Given the description of an element on the screen output the (x, y) to click on. 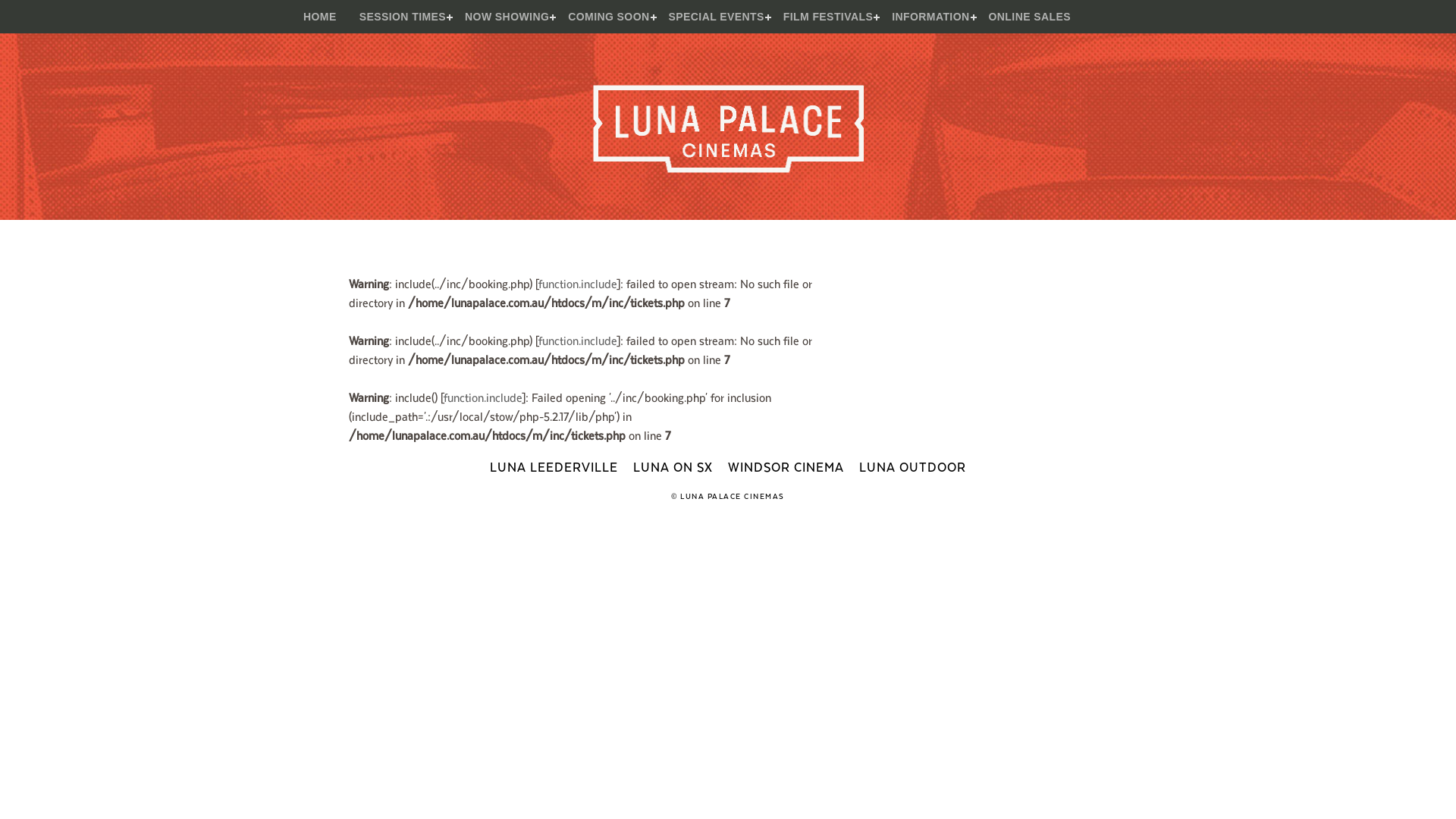
ONLINE SALES Element type: text (1029, 16)
WINDSOR CINEMA Element type: text (785, 465)
FILM FESTIVALS Element type: text (825, 16)
LUNA ON SX Element type: text (672, 465)
SESSION TIMES Element type: text (400, 16)
SPECIAL EVENTS Element type: text (714, 16)
function.include Element type: text (577, 339)
HOME Element type: text (319, 16)
function.include Element type: text (482, 396)
LUNA LEEDERVILLE Element type: text (553, 465)
LUNA OUTDOOR Element type: text (912, 465)
INFORMATION Element type: text (928, 16)
NOW SHOWING Element type: text (504, 16)
function.include Element type: text (577, 282)
COMING SOON Element type: text (606, 16)
